Given the description of an element on the screen output the (x, y) to click on. 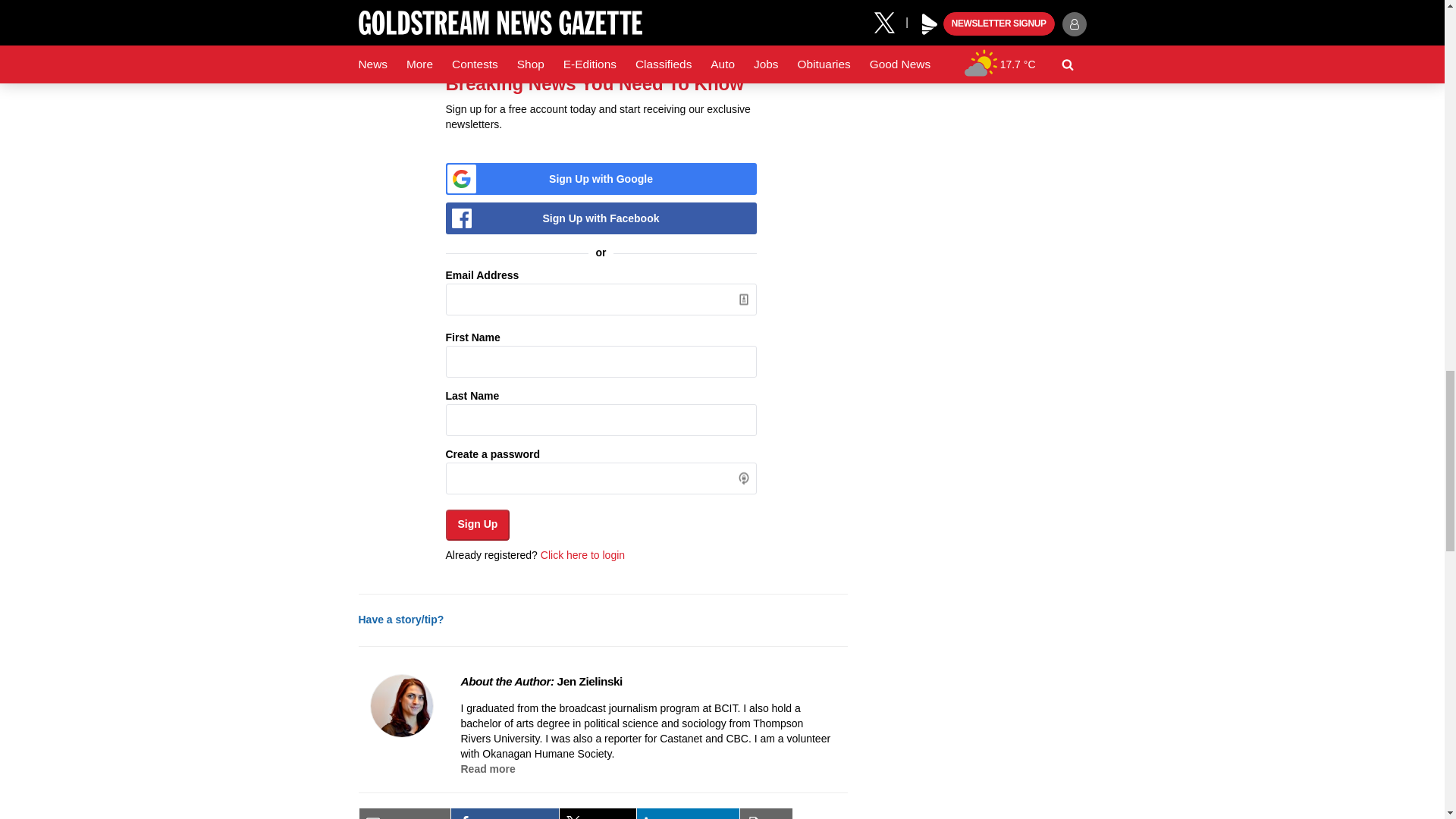
3rd party ad content (972, 22)
